Given the description of an element on the screen output the (x, y) to click on. 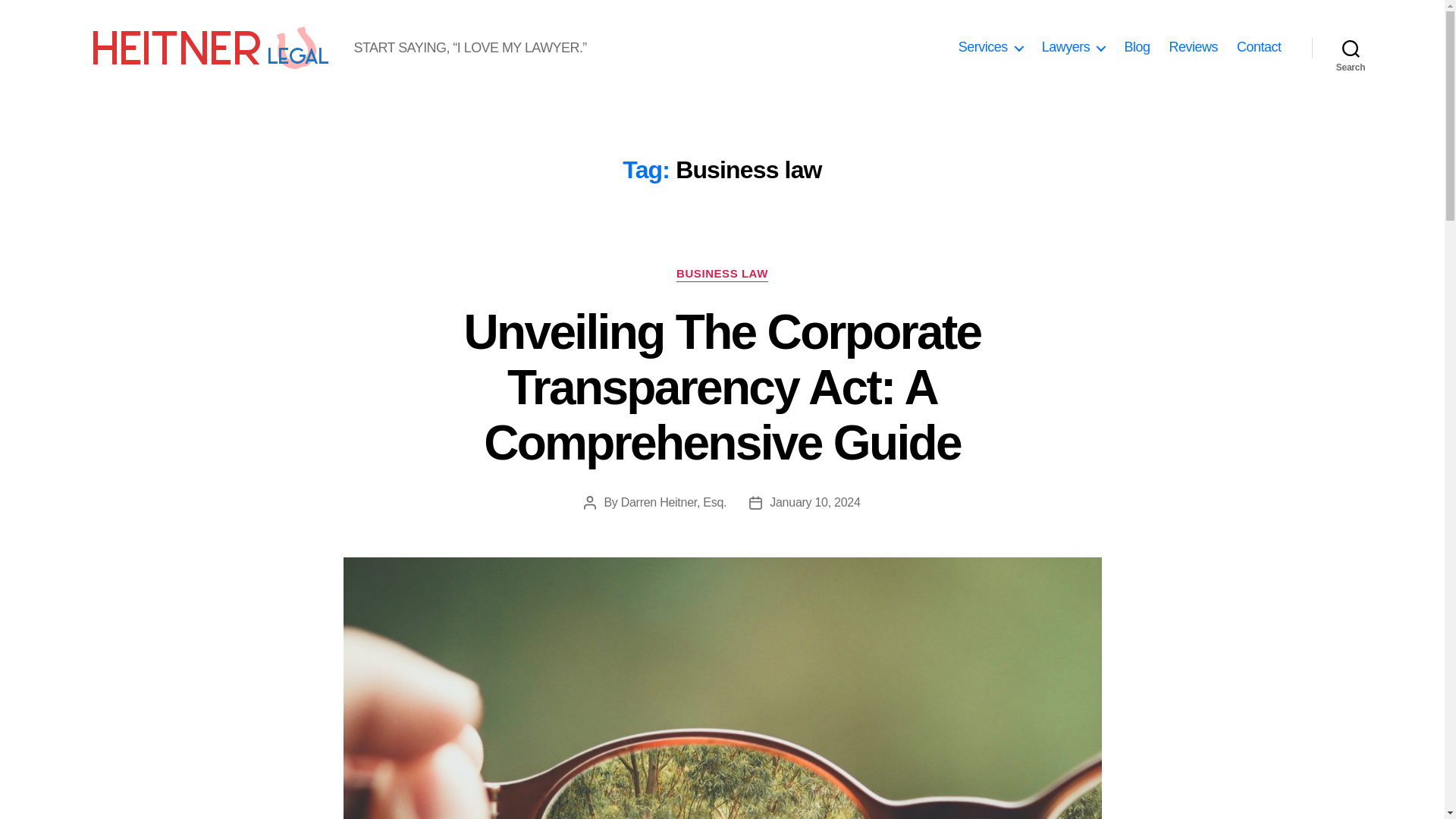
Blog (1137, 47)
Search (1350, 47)
Contact (1258, 47)
Services (990, 47)
Lawyers (1073, 47)
Reviews (1193, 47)
